Given the description of an element on the screen output the (x, y) to click on. 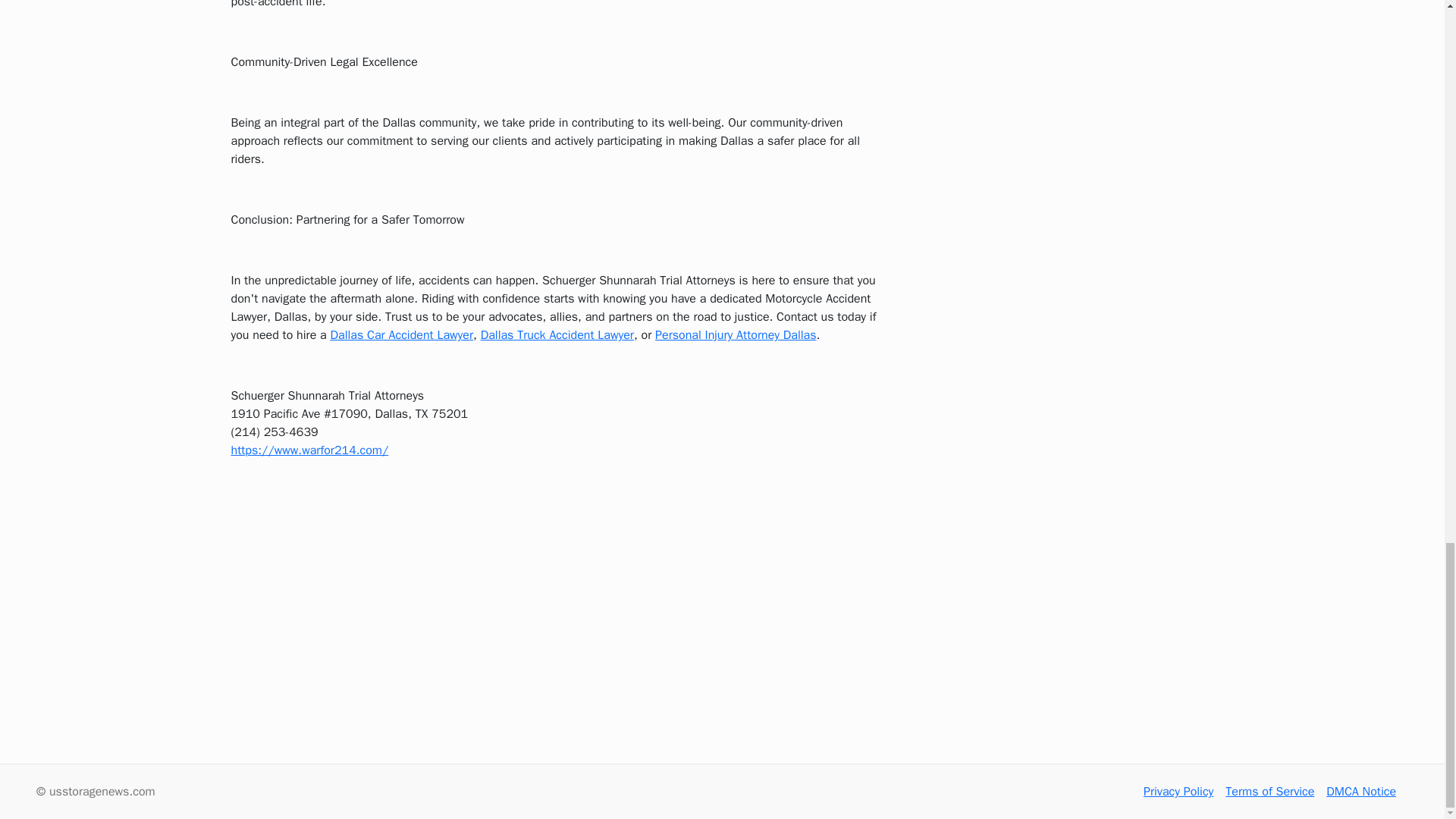
Privacy Policy (1177, 791)
Personal Injury Attorney Dallas (735, 335)
Terms of Service (1269, 791)
DMCA Notice (1361, 791)
Dallas Car Accident Lawyer (402, 335)
Dallas Truck Accident Lawyer (556, 335)
